Given the description of an element on the screen output the (x, y) to click on. 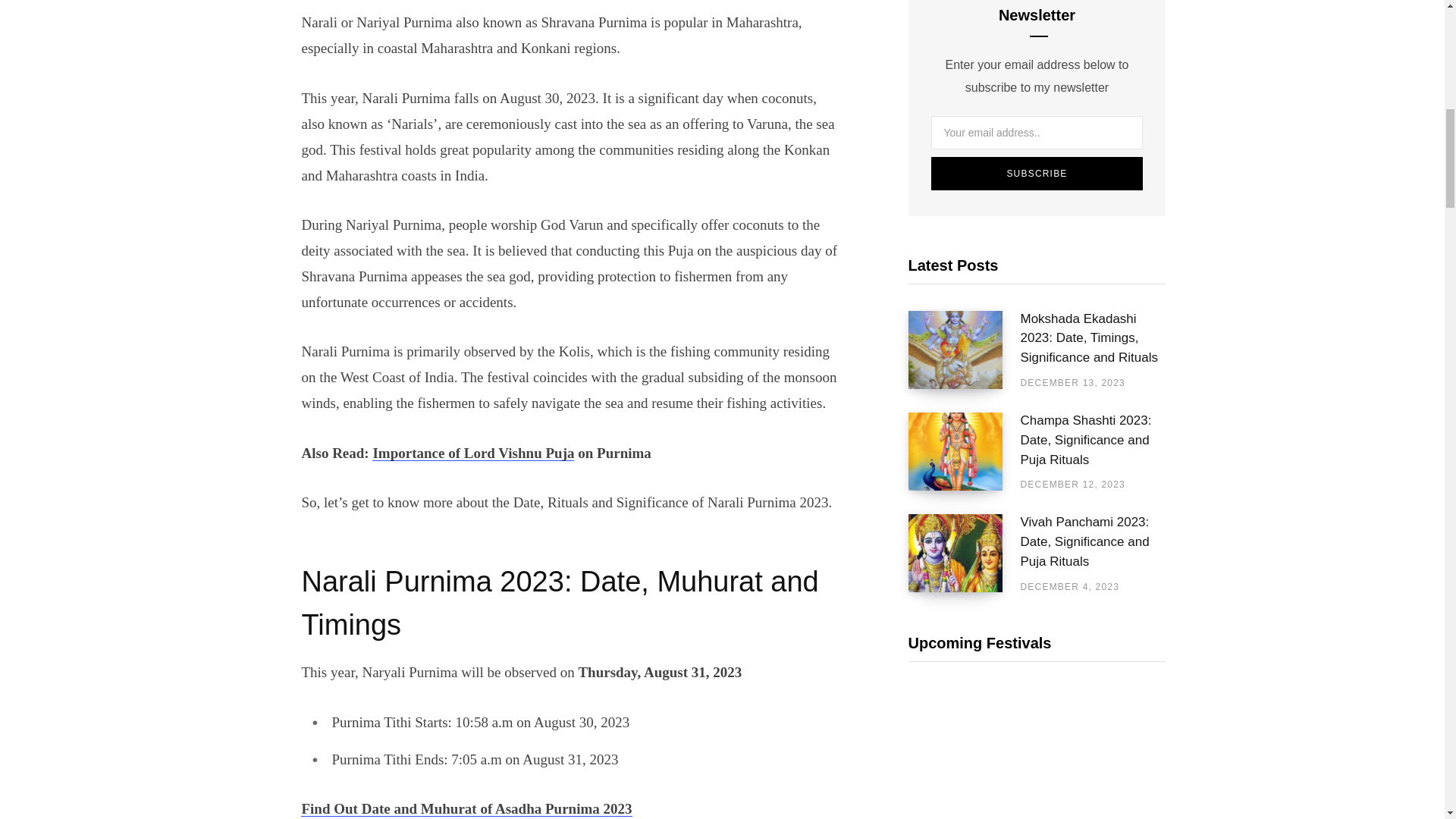
Subscribe (1036, 173)
Find Out Date and Muhurat of Asadha Purnima 2023 (466, 808)
Importance of Lord Vishnu Puja (472, 453)
